Given the description of an element on the screen output the (x, y) to click on. 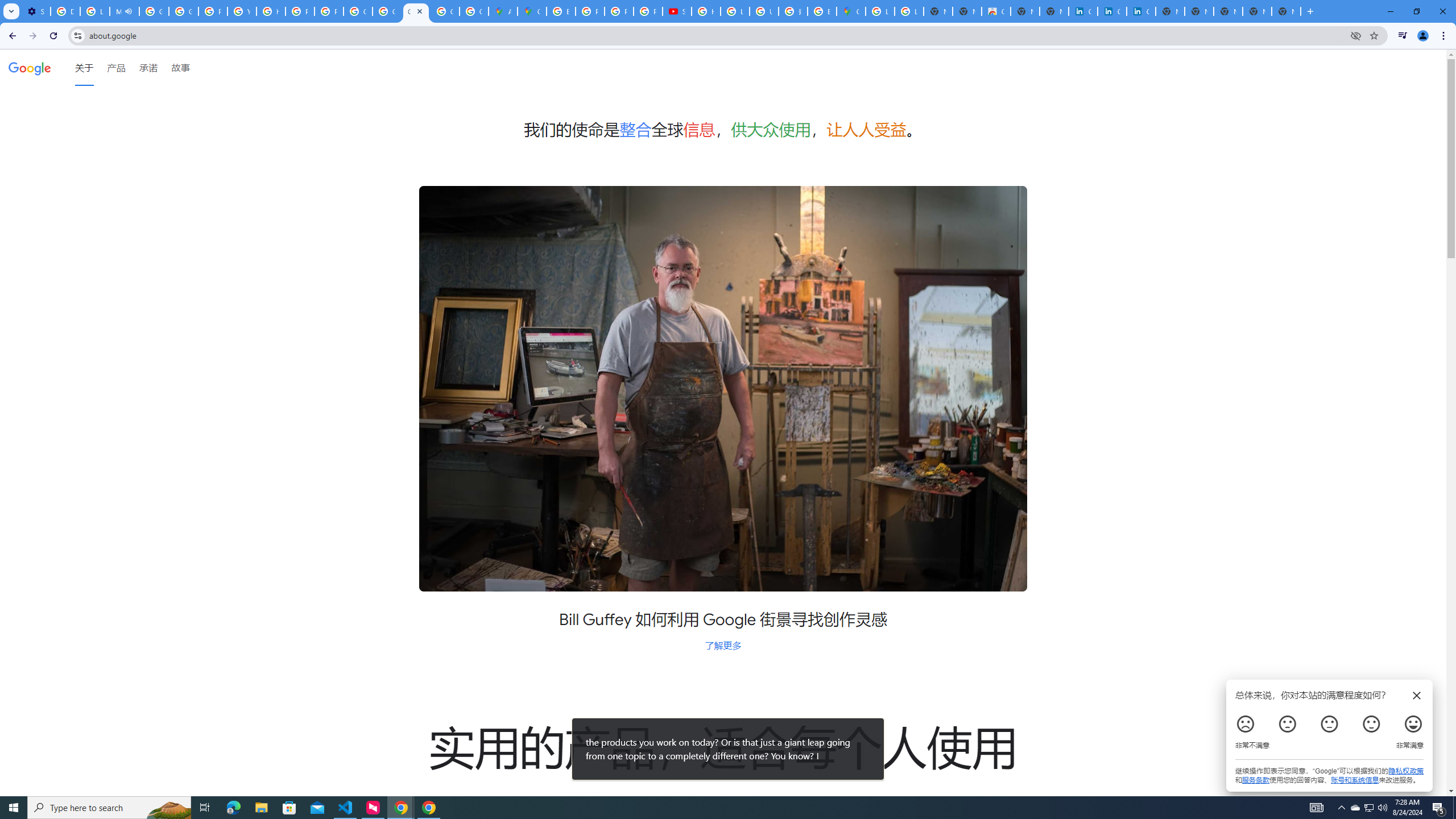
Settings - Customize profile (35, 11)
Explore new street-level details - Google Maps Help (821, 11)
Privacy Help Center - Policies Help (619, 11)
Privacy Help Center - Policies Help (590, 11)
